Given the description of an element on the screen output the (x, y) to click on. 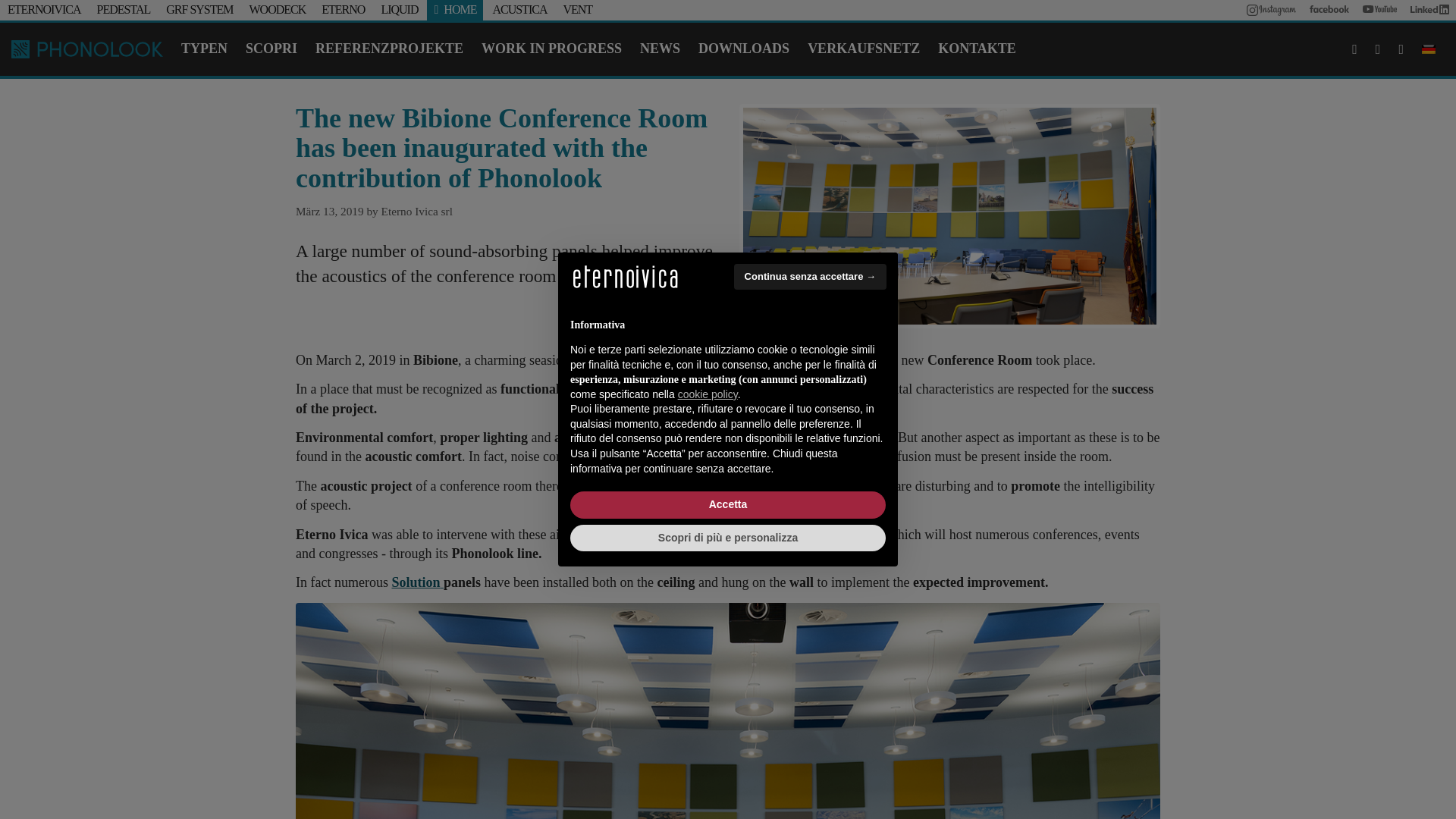
DOWNLOADS (742, 49)
ACUSTICA (519, 9)
KONTAKTE (976, 49)
SCOPRI (270, 49)
VENT (577, 9)
REFERENZPROJEKTE (388, 49)
VERKAUFSNETZ (862, 49)
ETERNO (343, 9)
LIQUID (398, 9)
PEDESTAL (124, 9)
WOODECK (276, 9)
WORK IN PROGRESS (550, 49)
TYPEN (203, 49)
